Given the description of an element on the screen output the (x, y) to click on. 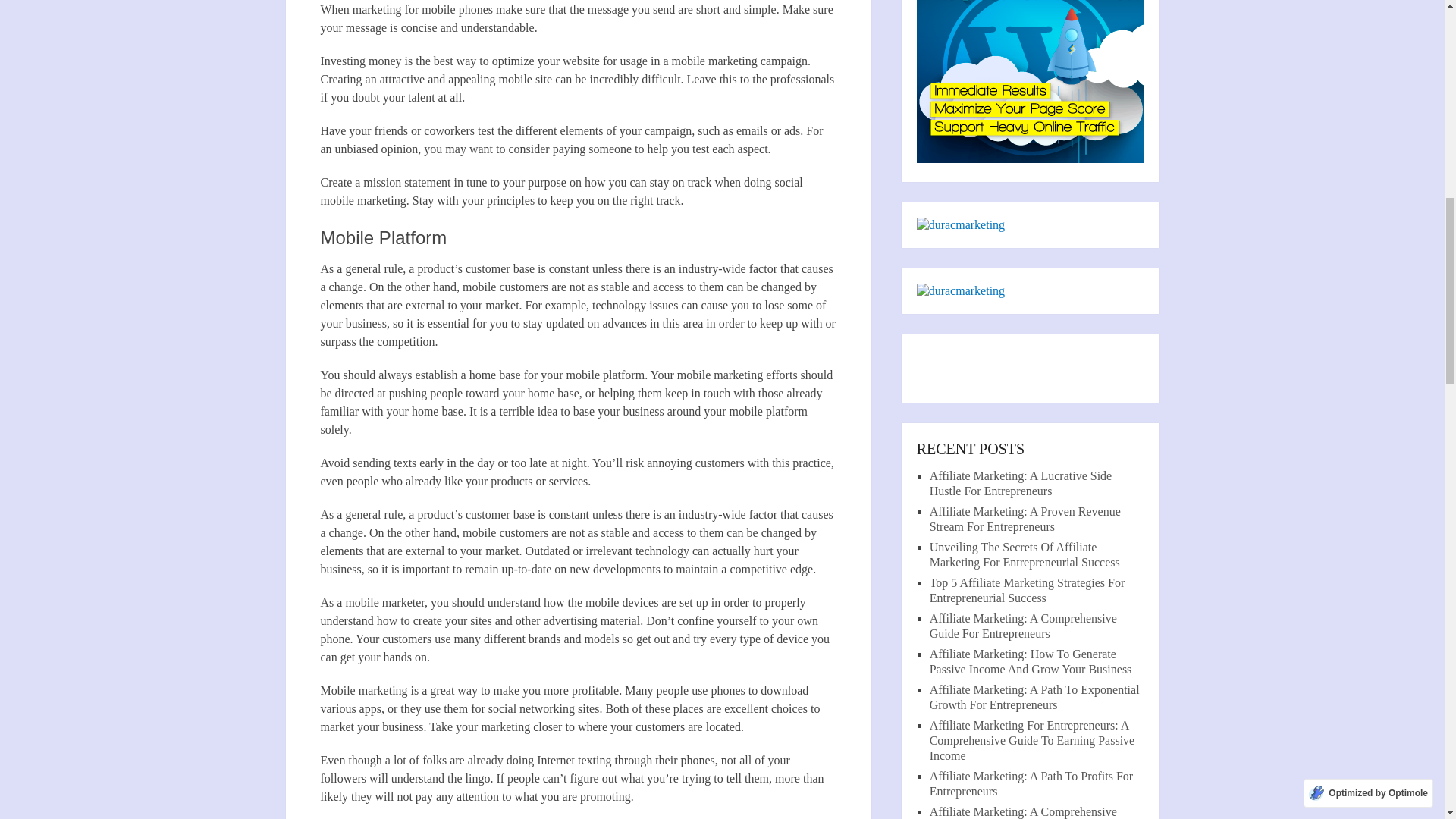
Affiliate Marketing: A Path To Profits For Entrepreneurs (1032, 783)
Affiliate Marketing: A Comprehensive Guide For Entrepreneurs (1023, 812)
Affiliate Marketing: A Comprehensive Guide For Entrepreneurs (1023, 625)
